Given the description of an element on the screen output the (x, y) to click on. 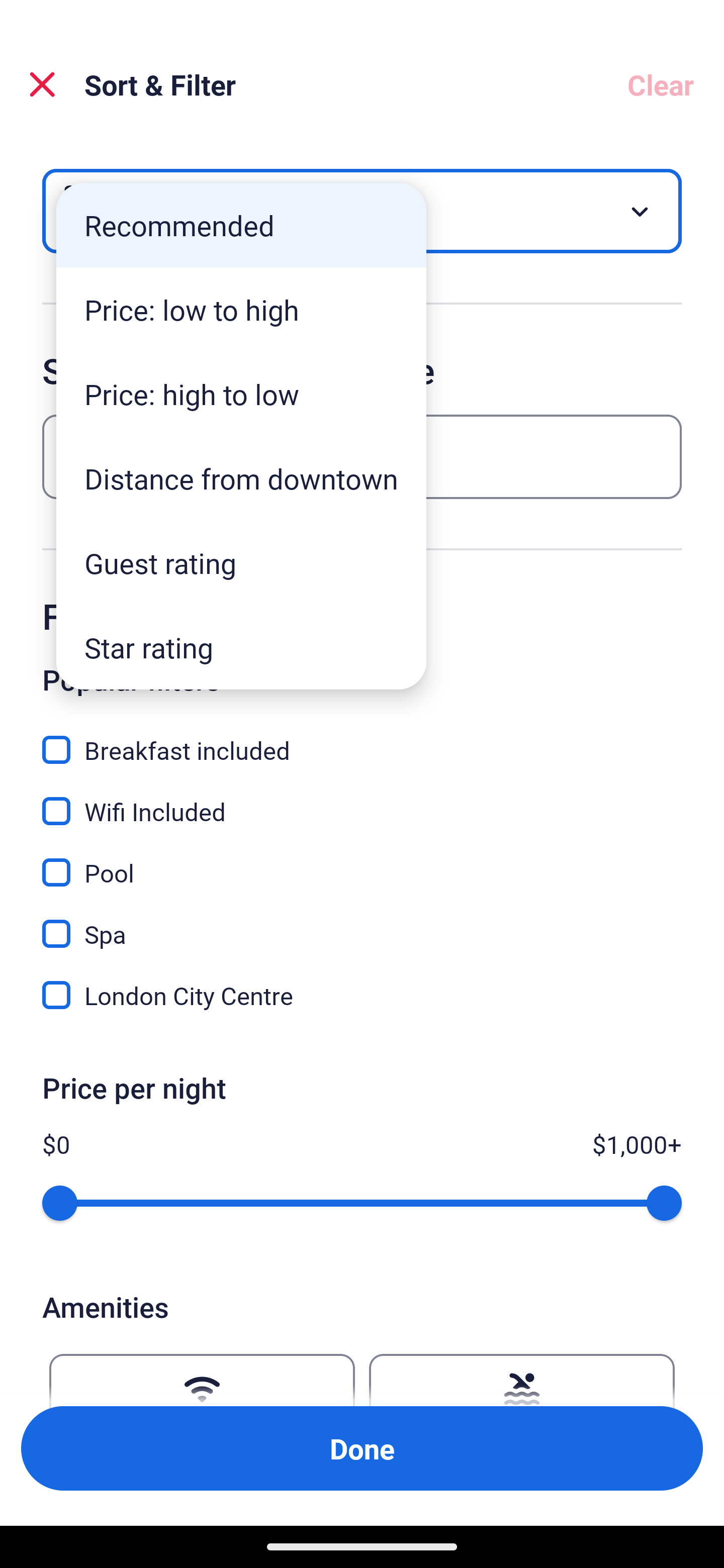
Price: low to high (241, 309)
Price: high to low (241, 393)
Distance from downtown (241, 477)
Guest rating (241, 562)
Star rating (241, 647)
